Given the description of an element on the screen output the (x, y) to click on. 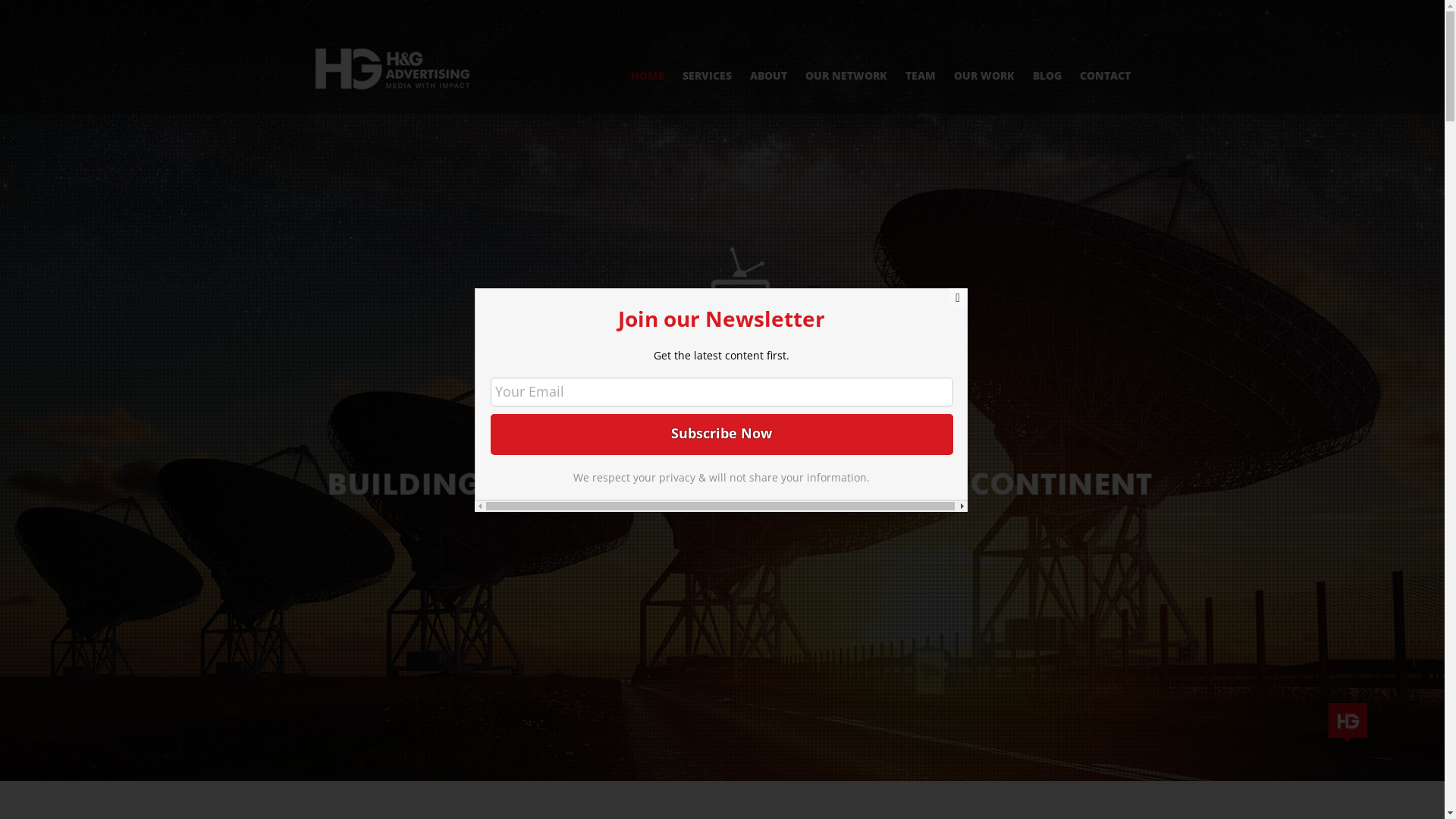
OUR NETWORK Element type: text (846, 56)
OUR WORK Element type: text (983, 56)
CONTACT Element type: text (1104, 56)
SERVICES Element type: text (706, 56)
Subscribe Now Element type: text (721, 432)
TEAM Element type: text (920, 56)
BLOG Element type: text (1046, 56)
HOME Element type: text (647, 56)
ABOUT Element type: text (767, 56)
